Given the description of an element on the screen output the (x, y) to click on. 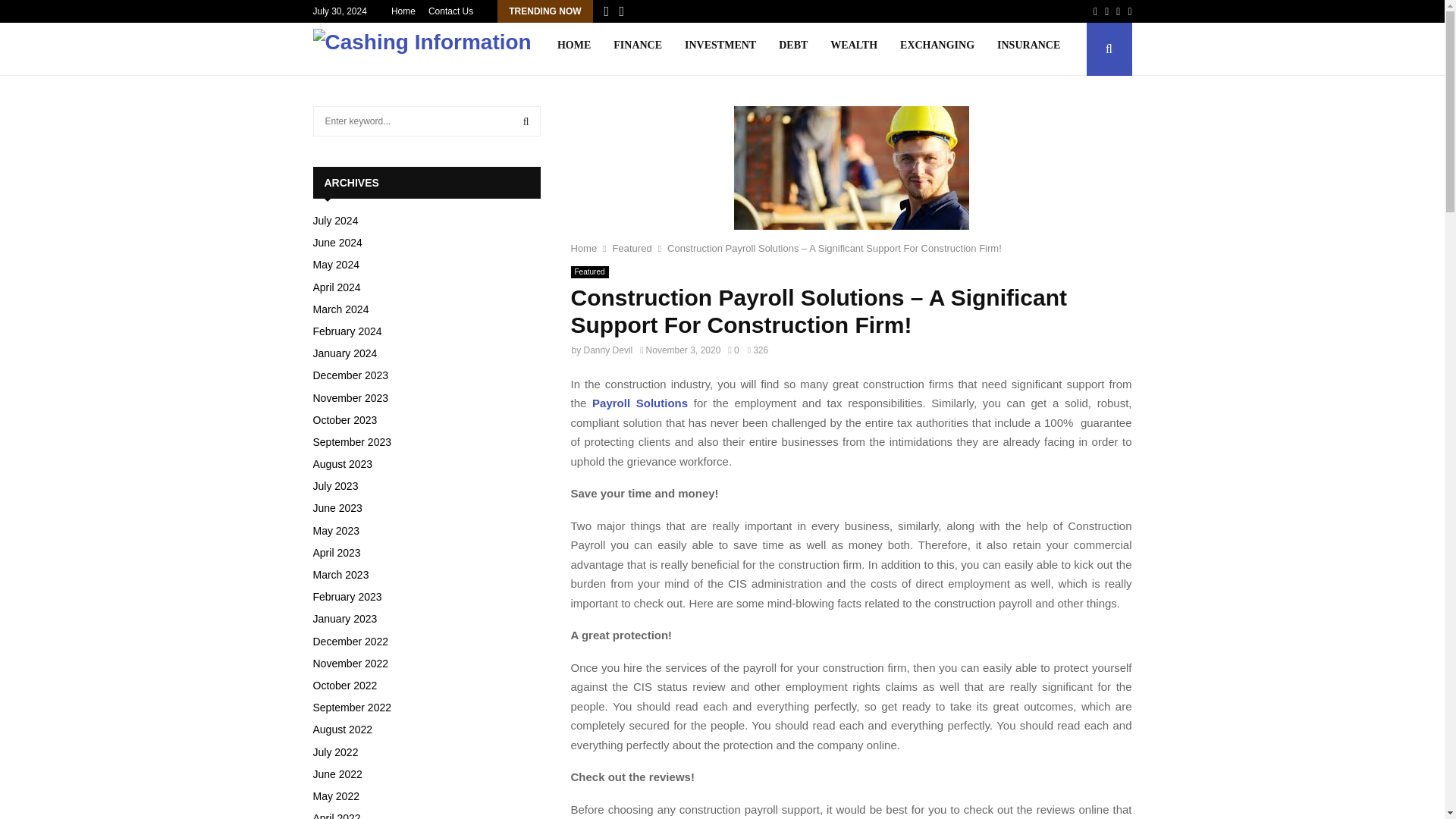
Featured (632, 247)
EXCHANGING (936, 49)
0 (733, 349)
Danny Devil (608, 349)
Payroll Solutions (639, 402)
INVESTMENT (719, 49)
INSURANCE (1028, 49)
Contact Us (450, 11)
FINANCE (637, 49)
Featured (589, 272)
Home (583, 247)
Home (402, 11)
